Given the description of an element on the screen output the (x, y) to click on. 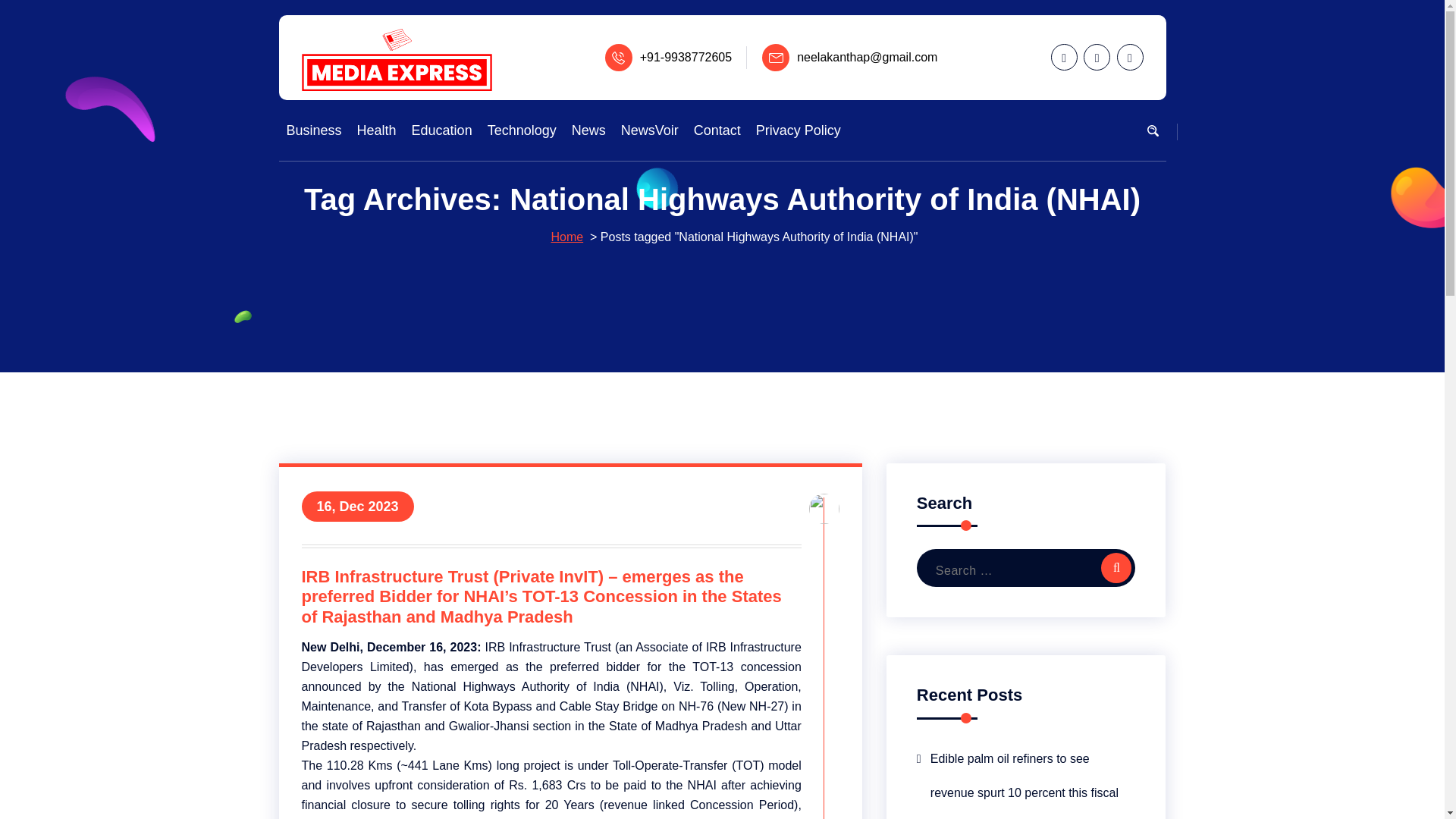
Business (314, 130)
Contact (717, 130)
Search (1115, 567)
Education (441, 130)
NewsVoir (649, 130)
Privacy Policy (798, 130)
Health (376, 130)
Technology (521, 130)
News (588, 130)
Home (566, 236)
